Given the description of an element on the screen output the (x, y) to click on. 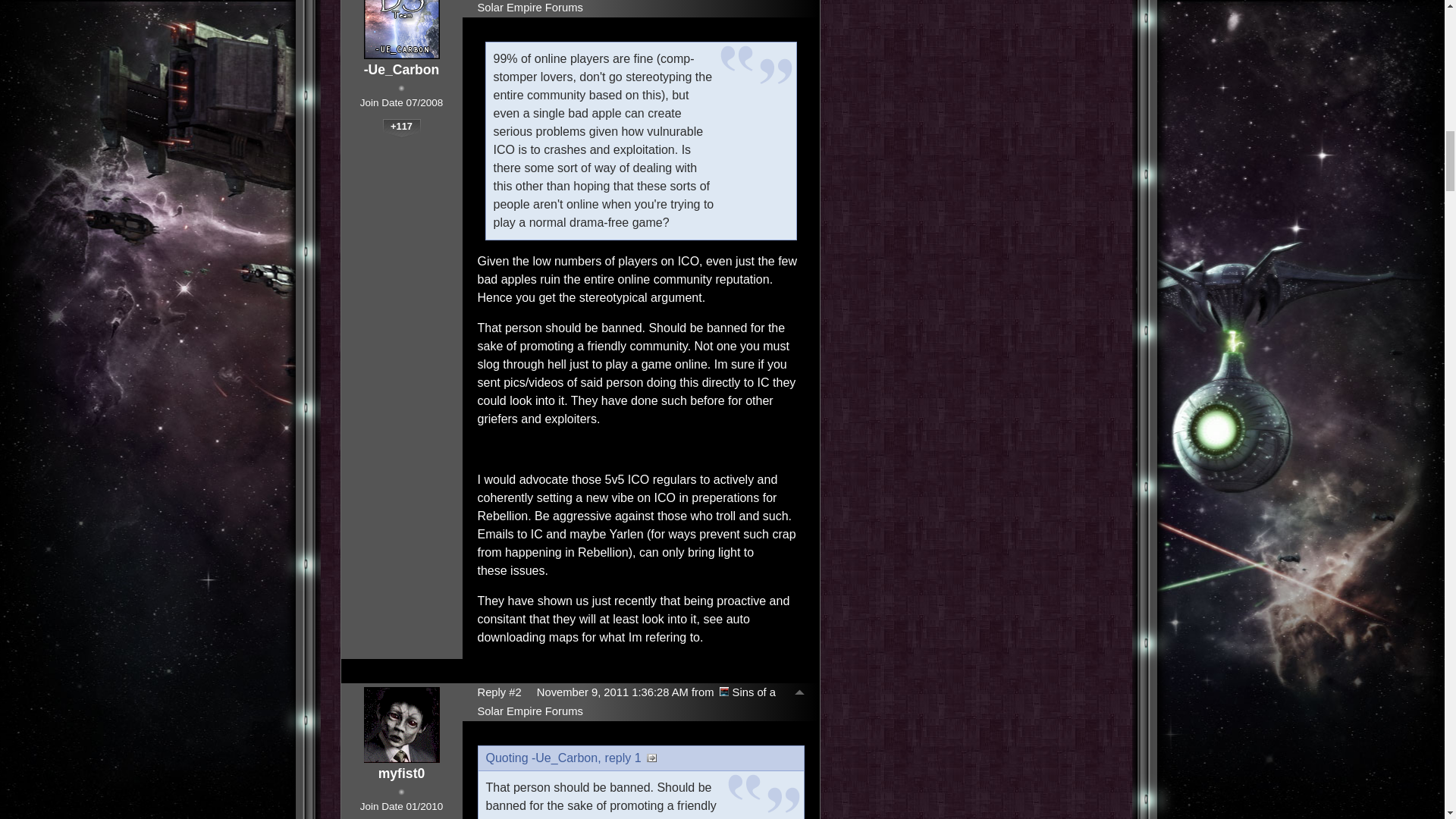
Click user name to view more options. (401, 773)
Rank: 1 (400, 791)
Click user name to view more options. (401, 69)
Rank: 1 (400, 88)
